Given the description of an element on the screen output the (x, y) to click on. 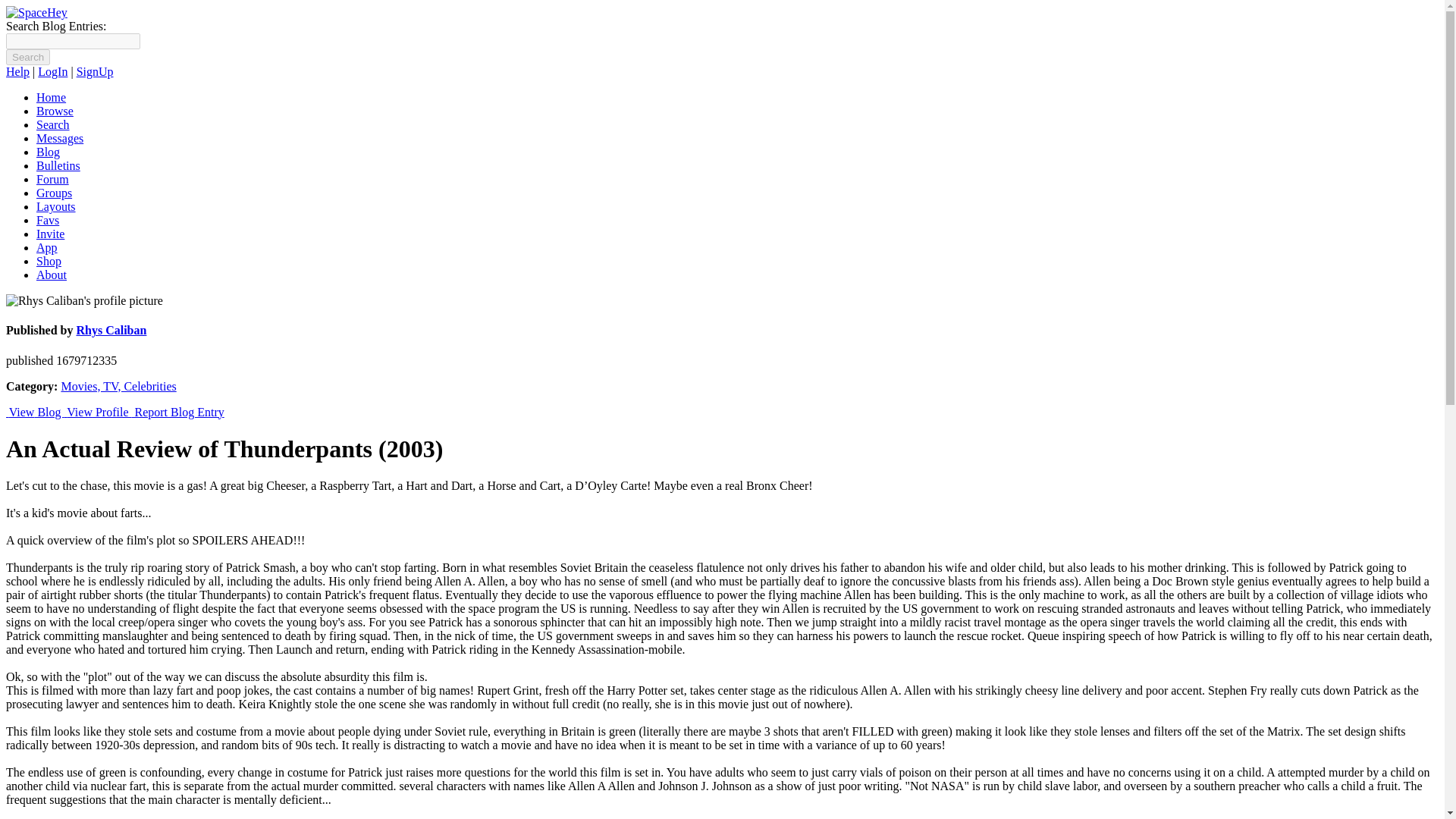
Search (52, 124)
Help (17, 71)
View Blog (34, 411)
Movies, TV, Celebrities (118, 386)
LogIn (51, 71)
Layouts (55, 205)
Messages (59, 137)
Invite (50, 233)
Forum (52, 178)
Favs (47, 219)
App (47, 246)
Shop (48, 260)
Rhys Caliban (111, 329)
Search (27, 57)
Bulletins (58, 164)
